Given the description of an element on the screen output the (x, y) to click on. 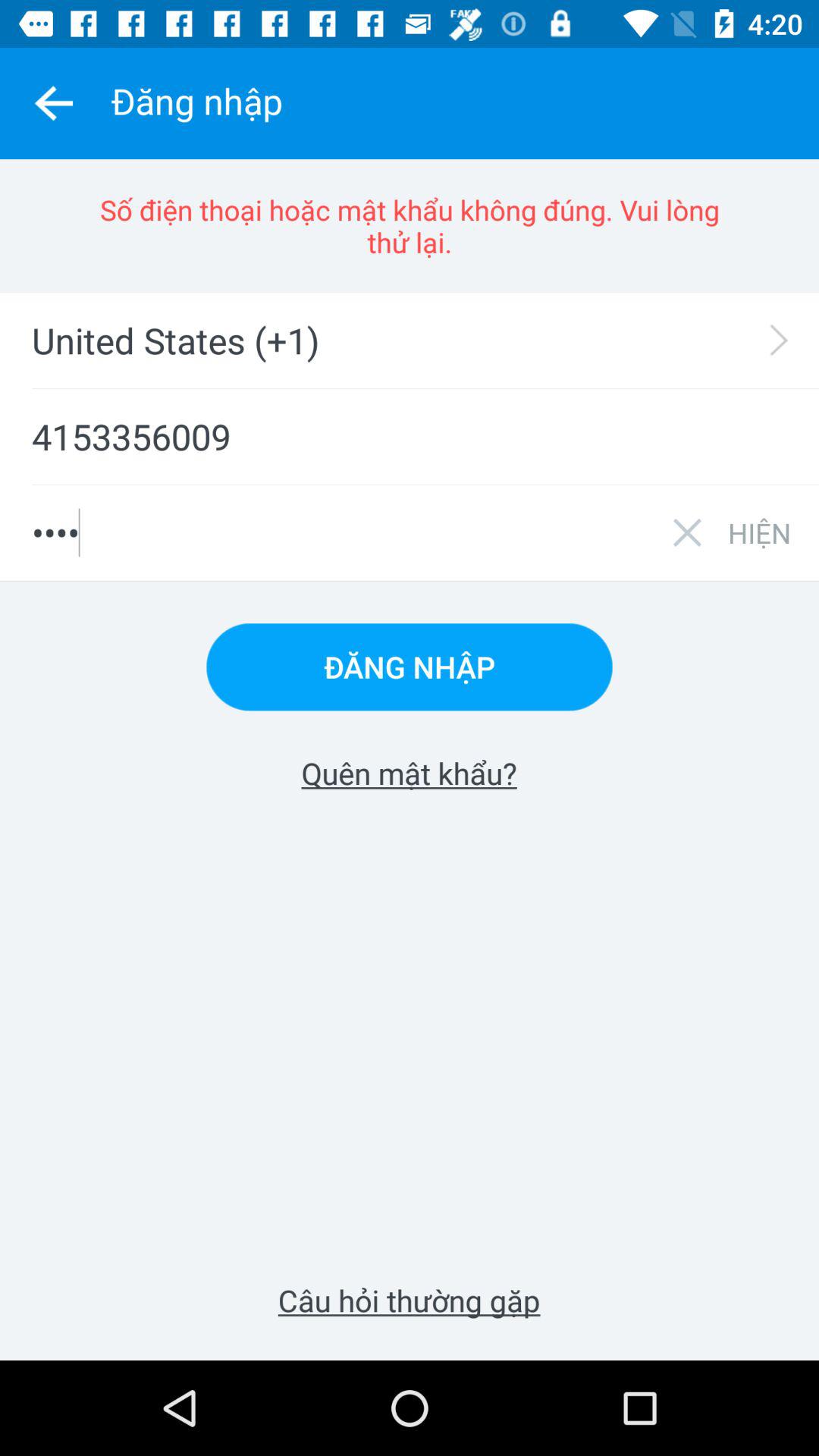
flip to united states (+1) (419, 340)
